Given the description of an element on the screen output the (x, y) to click on. 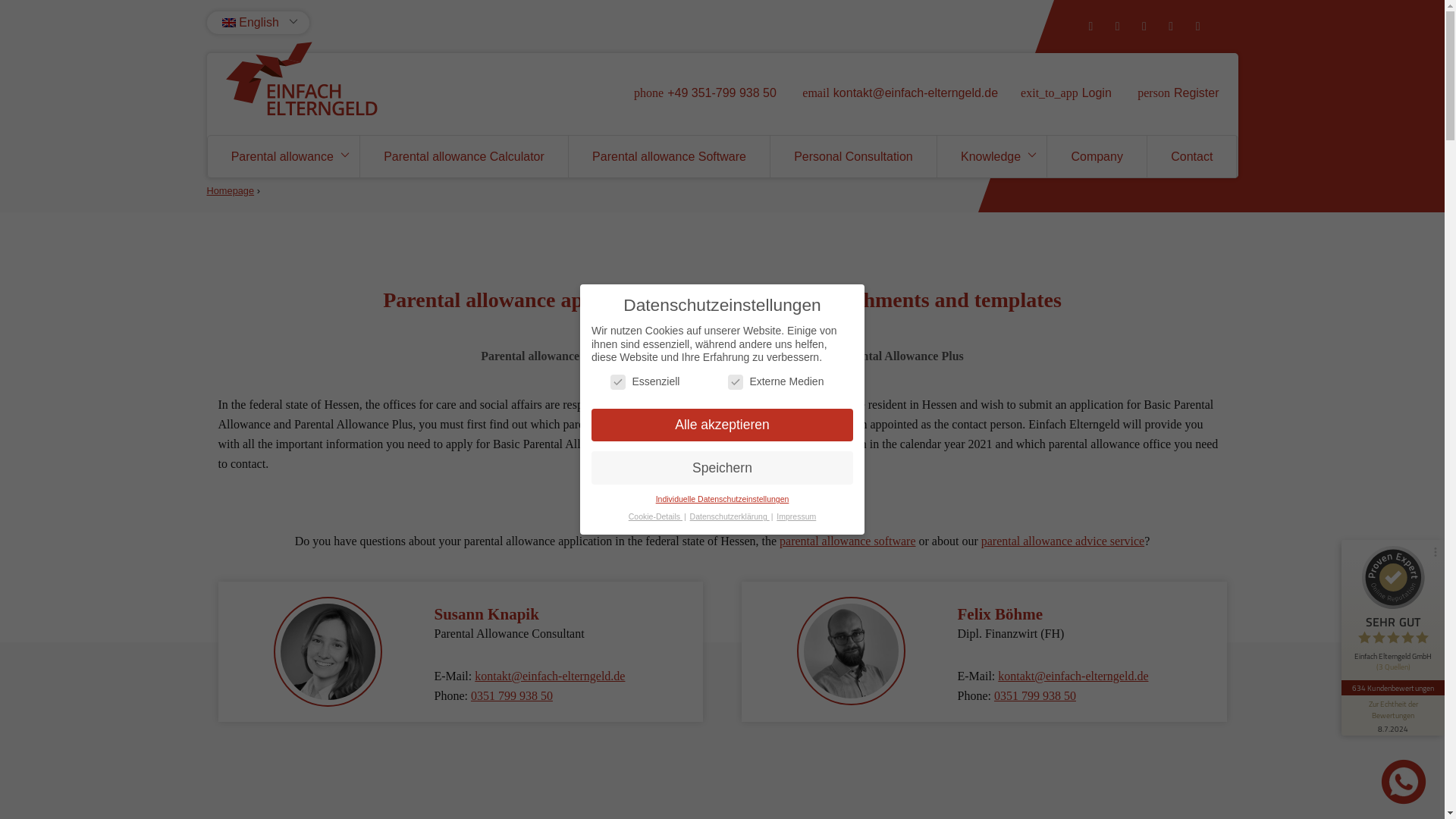
Personal Consultation (853, 156)
Elterngeld Software (846, 540)
Parental allowance Software (669, 156)
Elterngeldberatung (1062, 540)
Knowledge (991, 156)
Parental allowance (283, 156)
Parental allowance Calculator (463, 156)
To the homepage (301, 82)
English (249, 22)
Elterngeldsoftware einloggen (1096, 92)
Register (1196, 92)
English (249, 22)
Vorherige Kundenstimme (1430, 687)
Login (1096, 92)
